Given the description of an element on the screen output the (x, y) to click on. 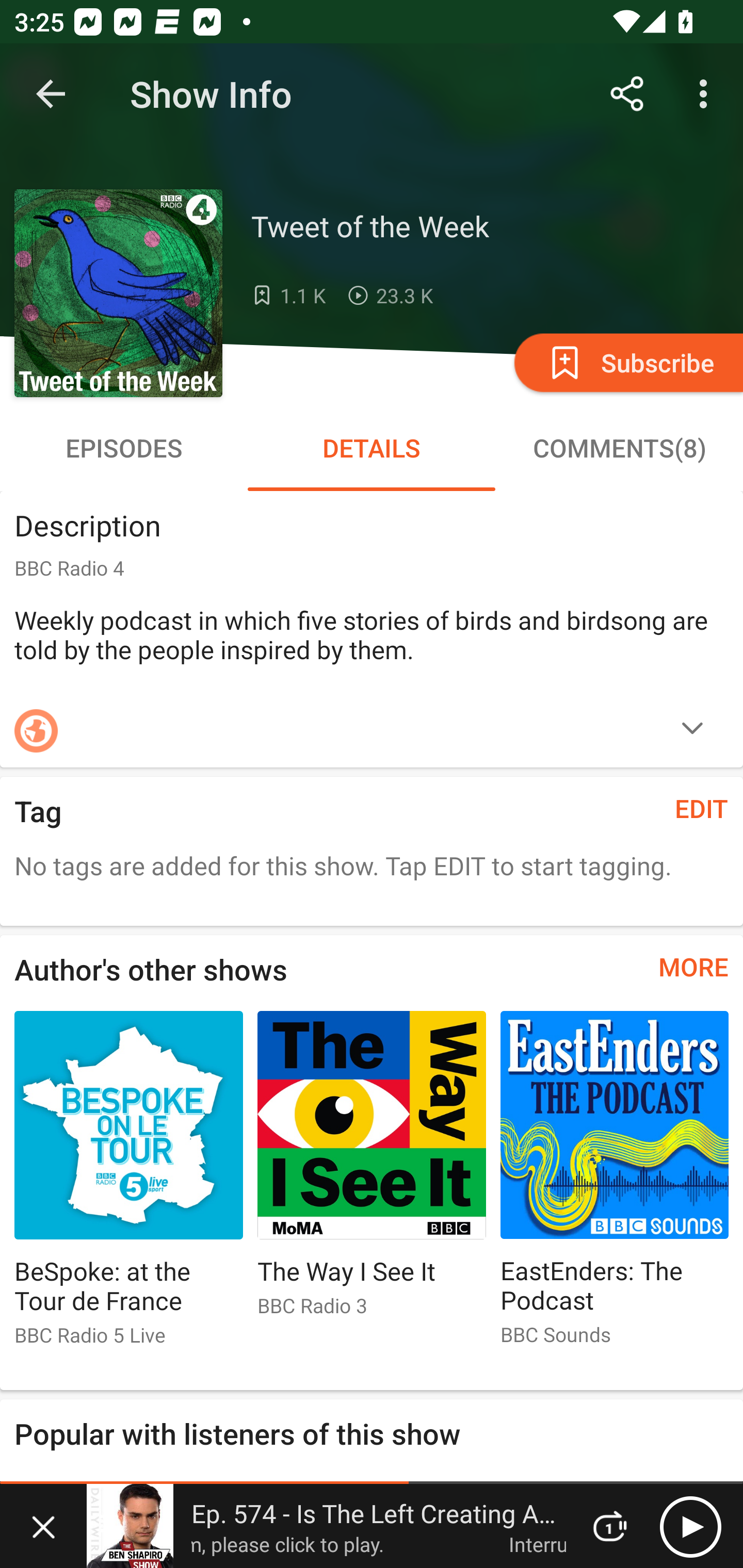
Navigate up (50, 93)
Share (626, 93)
More options (706, 93)
Subscribe (627, 361)
EPISODES (123, 447)
DETAILS (371, 447)
COMMENTS(8) (619, 447)
 (692, 730)
EDIT (701, 807)
MORE (693, 966)
The Way I See It The Way I See It BBC Radio 3 (371, 1171)
Play (690, 1526)
